Given the description of an element on the screen output the (x, y) to click on. 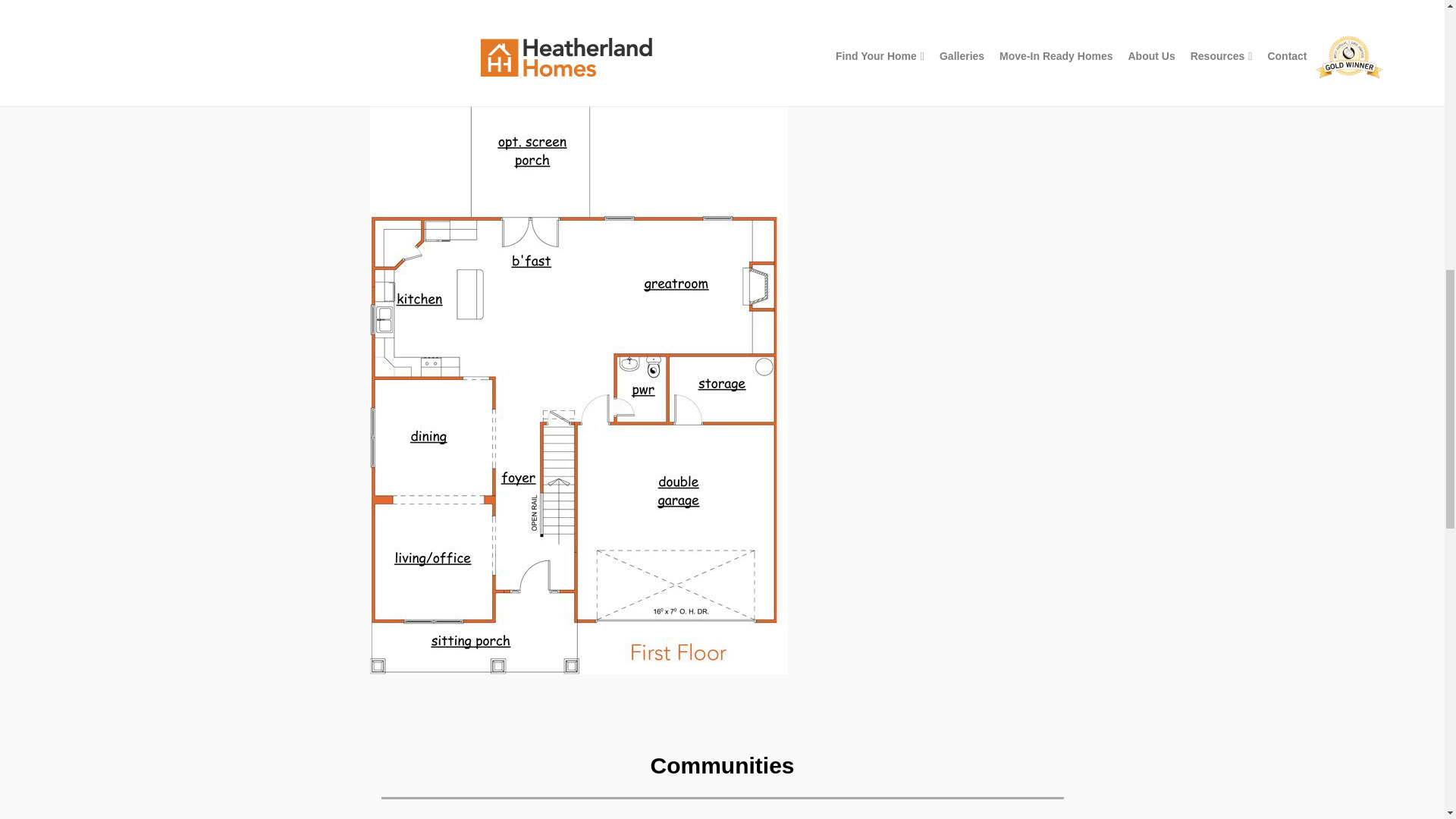
Basement (574, 50)
1st Floor (407, 50)
2nd Floor (489, 50)
